Given the description of an element on the screen output the (x, y) to click on. 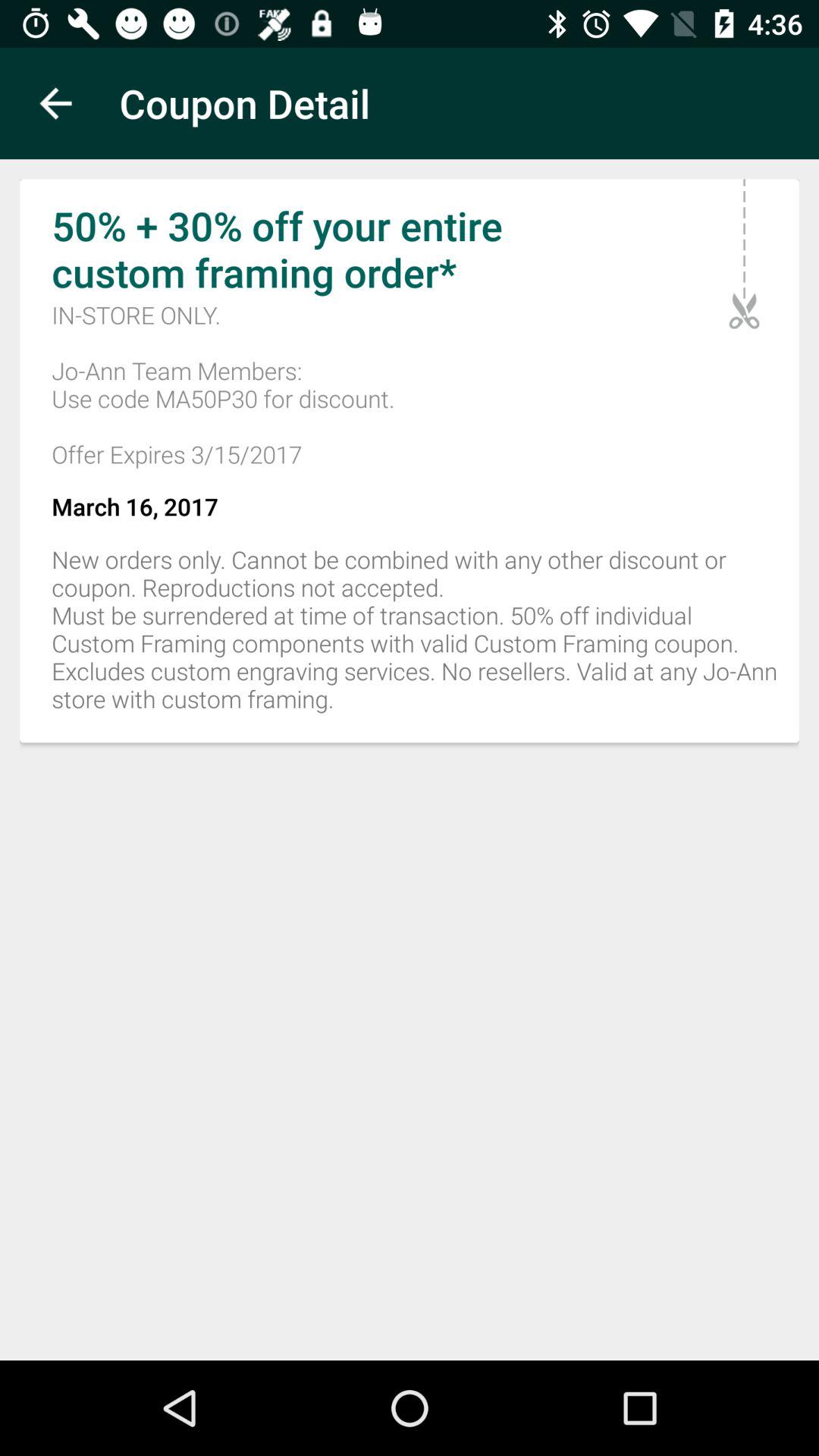
launch item below march 16, 2017 item (409, 637)
